Given the description of an element on the screen output the (x, y) to click on. 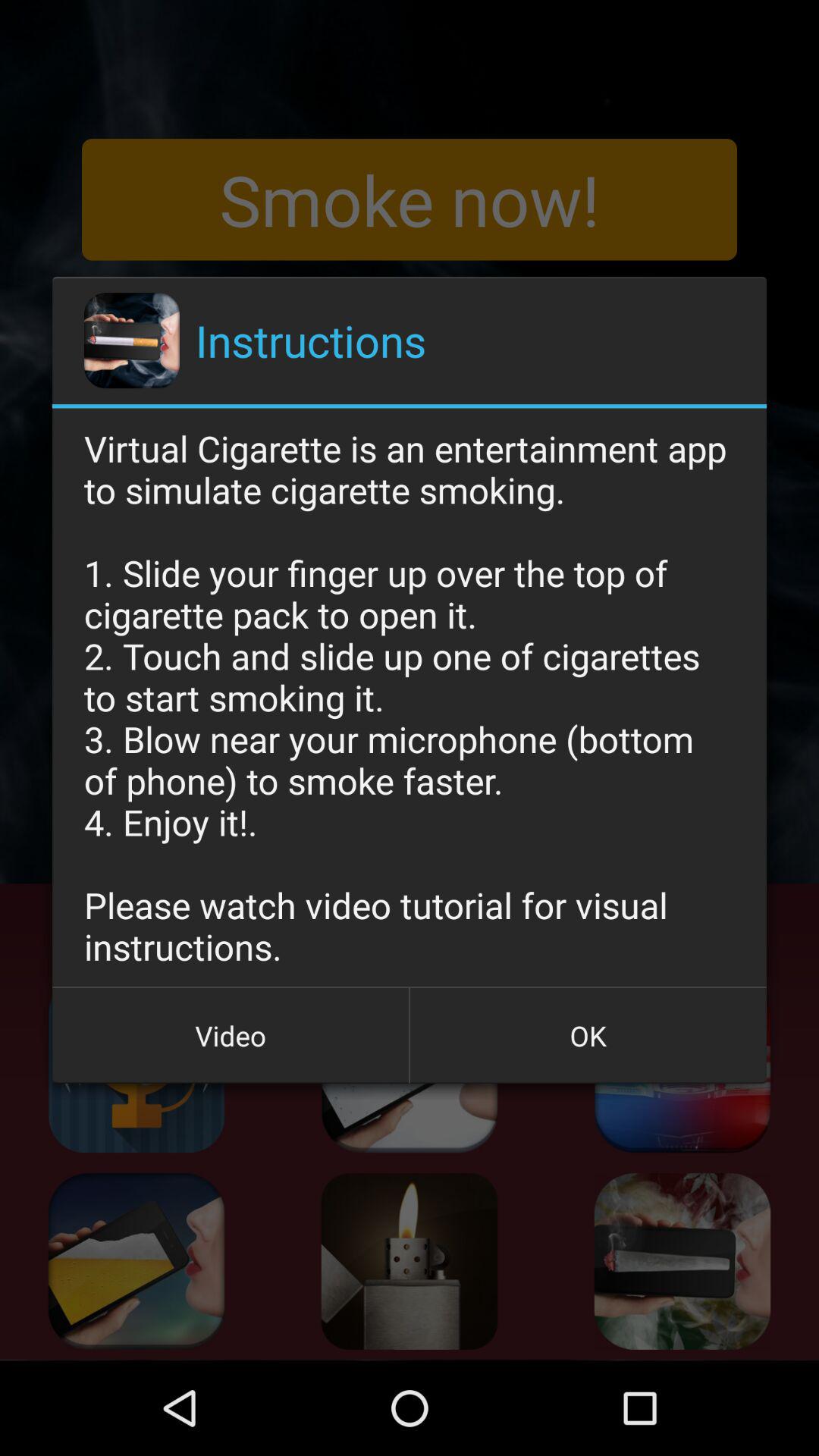
launch the ok (588, 1035)
